Given the description of an element on the screen output the (x, y) to click on. 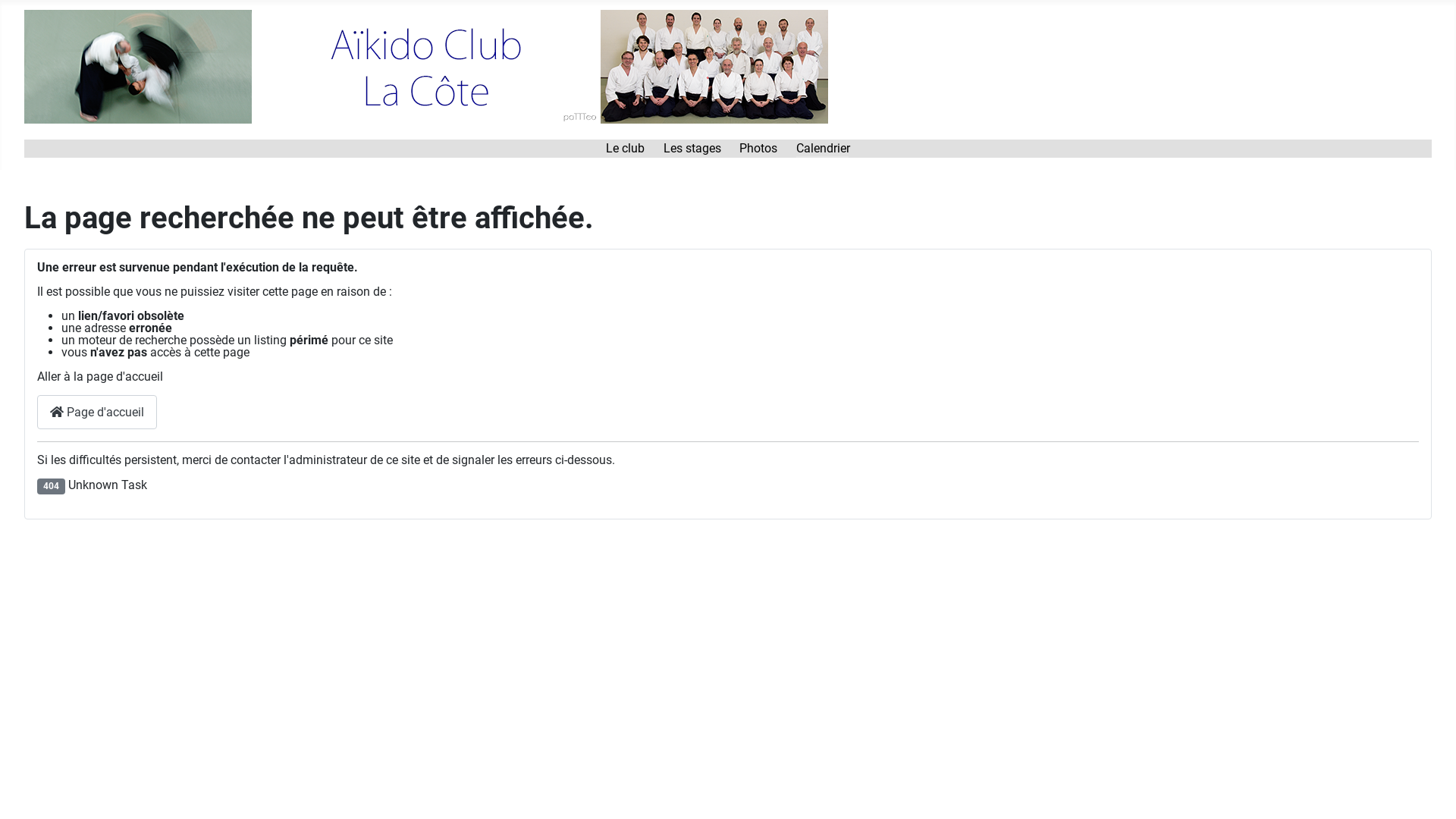
Les stages Element type: text (692, 148)
Calendrier Element type: text (823, 148)
Le club Element type: text (624, 148)
Photos Element type: text (758, 148)
Page d'accueil Element type: text (96, 412)
